Given the description of an element on the screen output the (x, y) to click on. 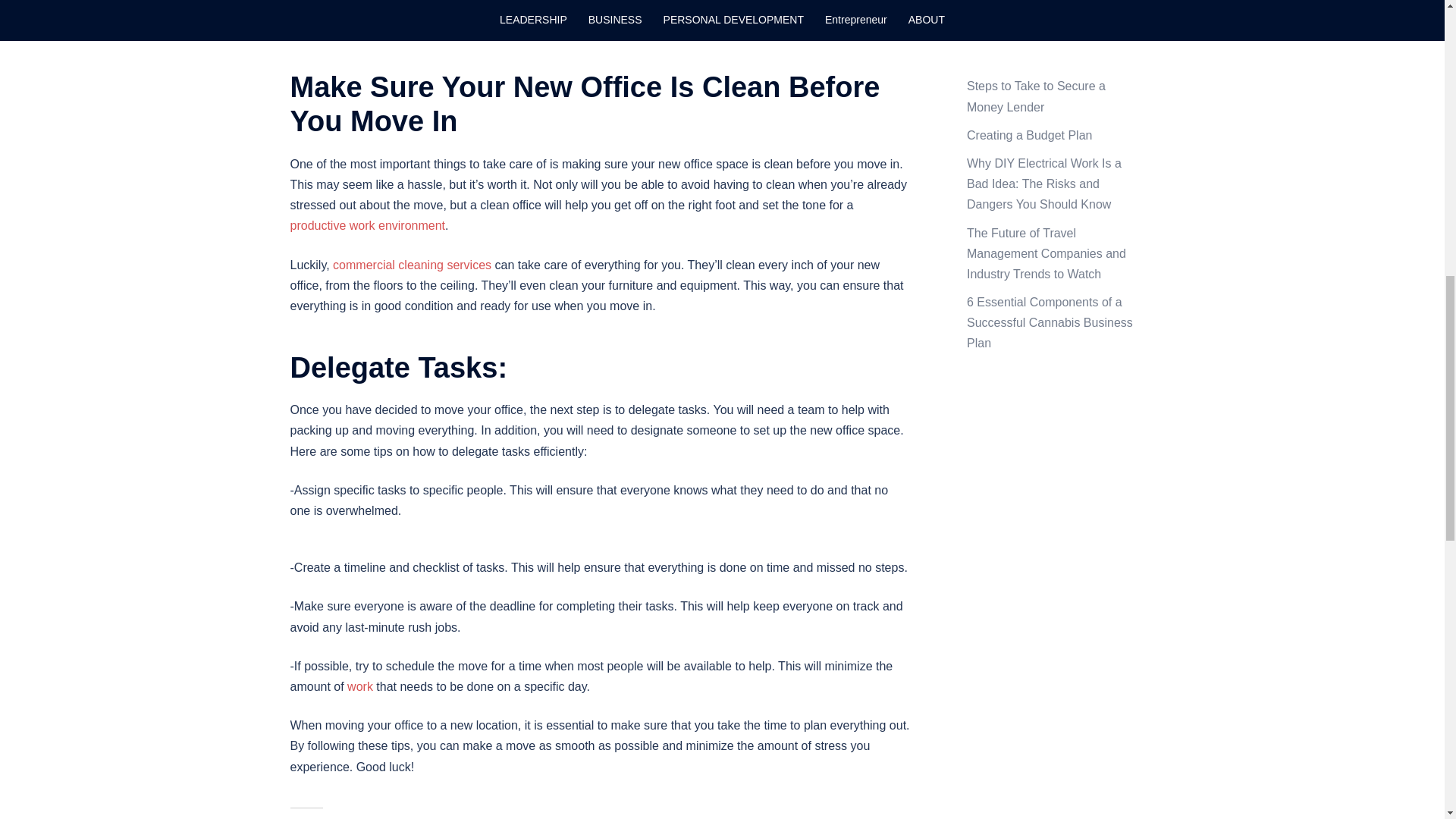
packing (449, 5)
work (359, 686)
productive work environment (367, 225)
commercial cleaning services (412, 264)
